Given the description of an element on the screen output the (x, y) to click on. 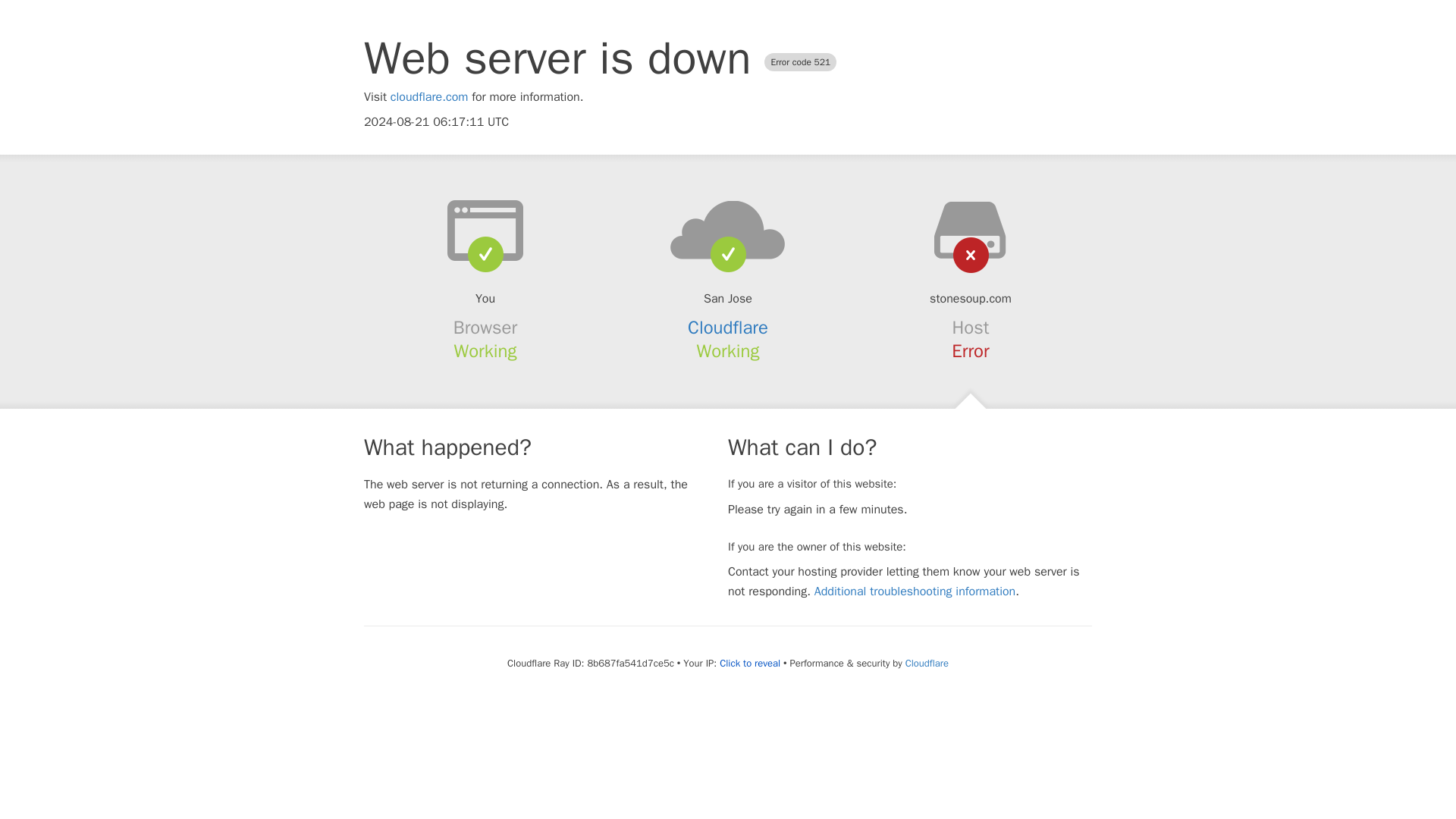
cloudflare.com (429, 96)
Cloudflare (927, 662)
Cloudflare (727, 327)
Click to reveal (749, 663)
Additional troubleshooting information (913, 590)
